Given the description of an element on the screen output the (x, y) to click on. 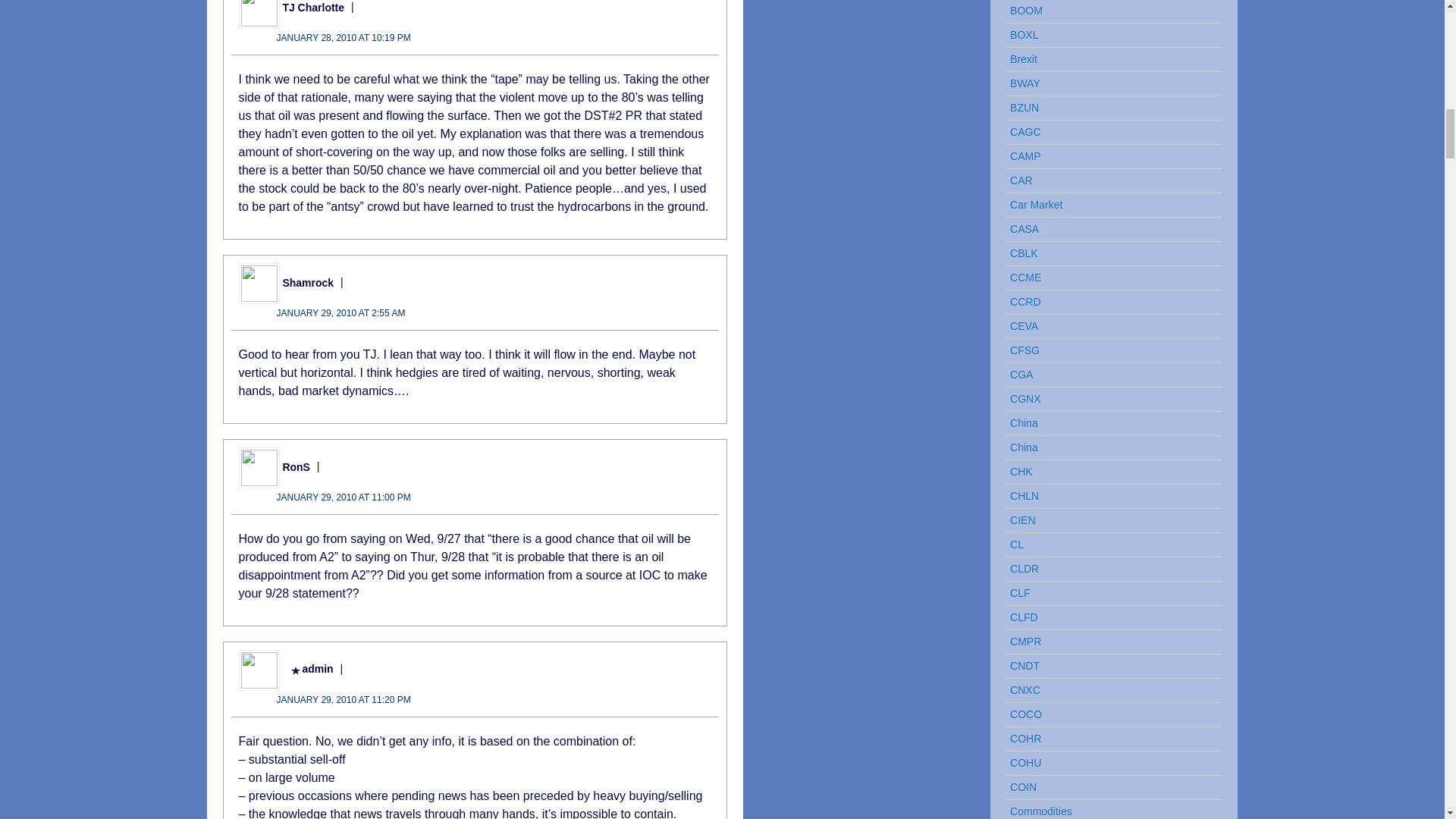
JANUARY 29, 2010 AT 11:00 PM (343, 497)
JANUARY 29, 2010 AT 2:55 AM (340, 312)
JANUARY 29, 2010 AT 11:20 PM (343, 699)
JANUARY 28, 2010 AT 10:19 PM (343, 37)
